Given the description of an element on the screen output the (x, y) to click on. 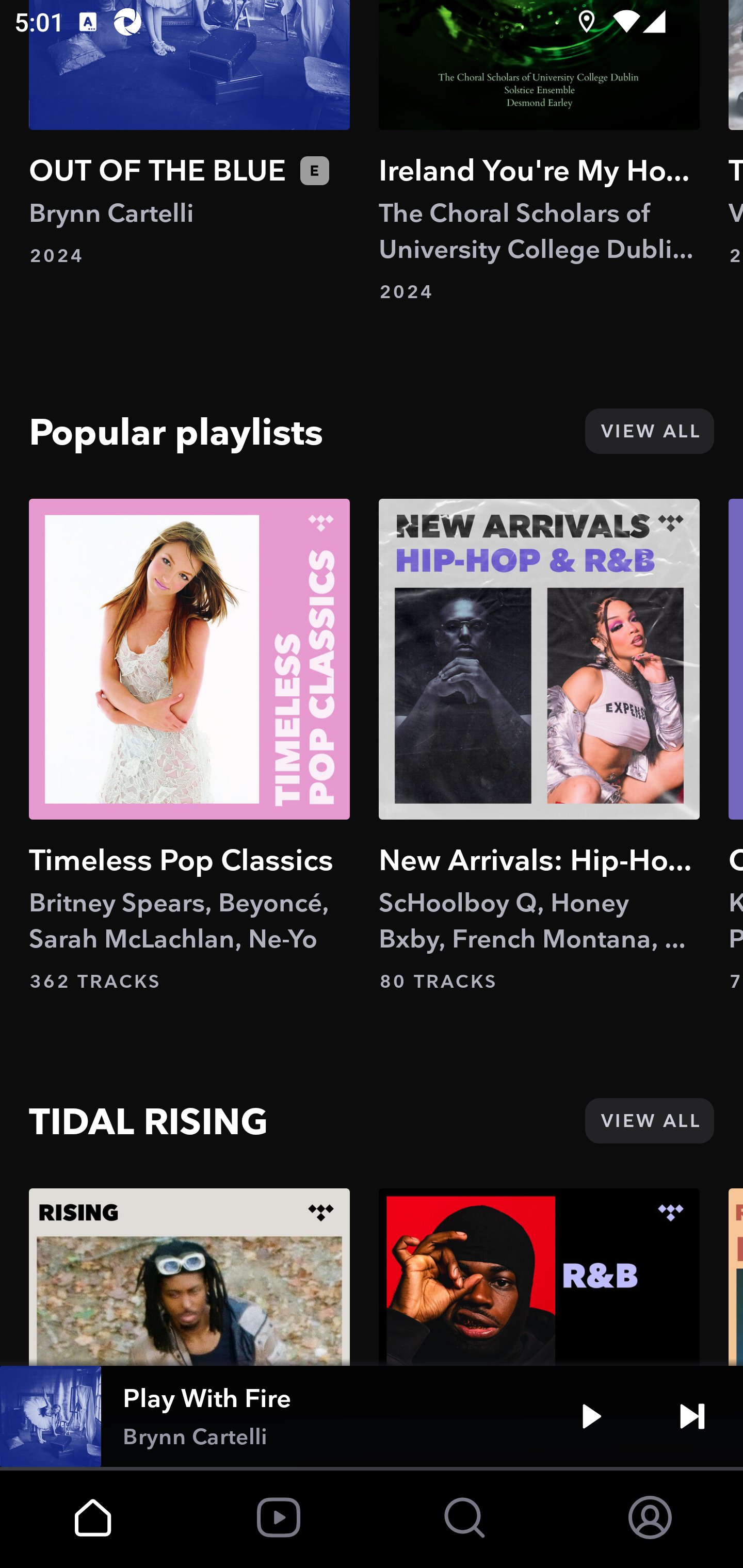
OUT OF THE BLUE Brynn Cartelli 2024 (188, 134)
VIEW ALL (649, 431)
VIEW ALL (649, 1120)
Play With Fire Brynn Cartelli Play (371, 1416)
Play (590, 1416)
